Given the description of an element on the screen output the (x, y) to click on. 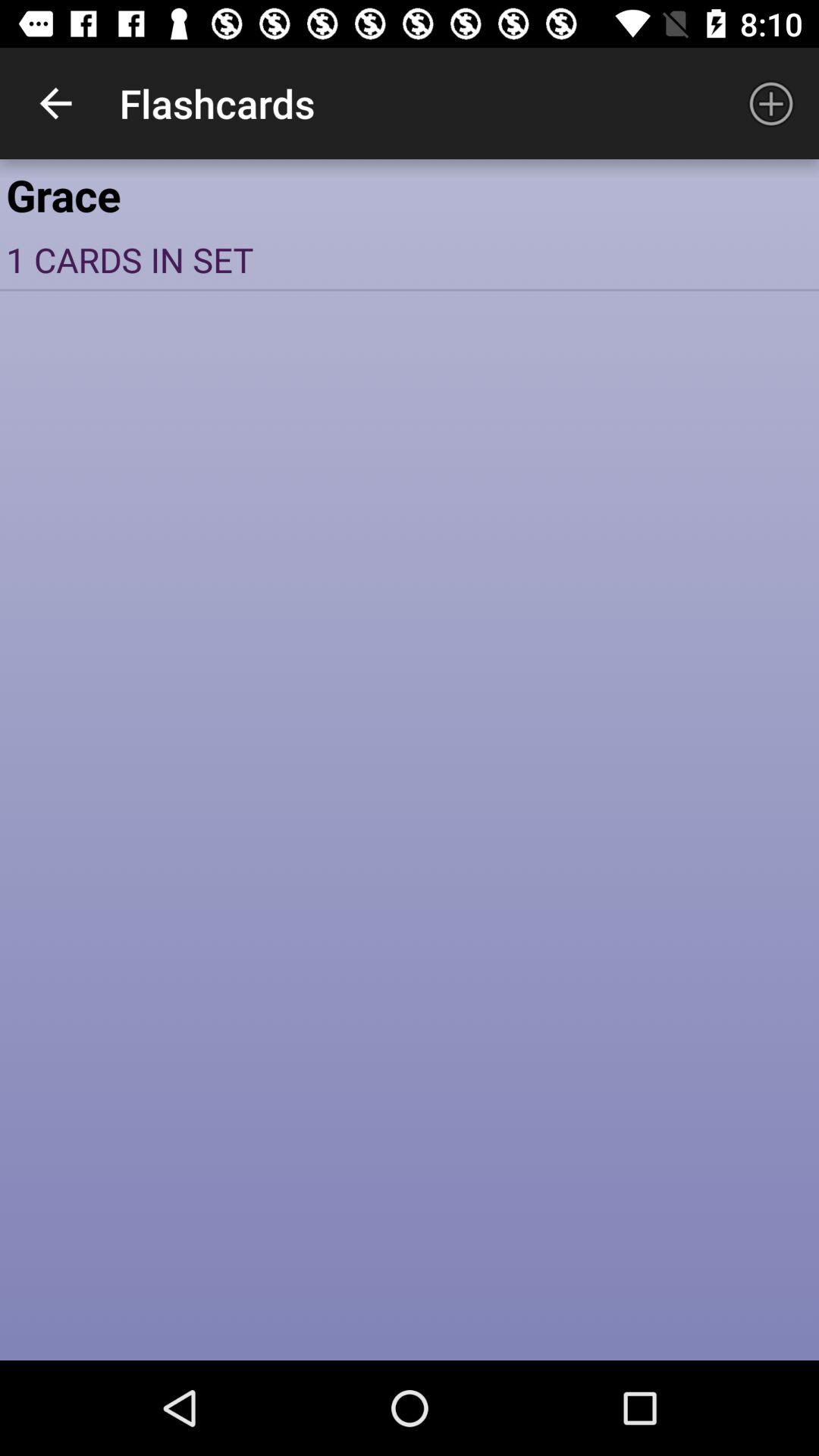
select the grace item (409, 194)
